Given the description of an element on the screen output the (x, y) to click on. 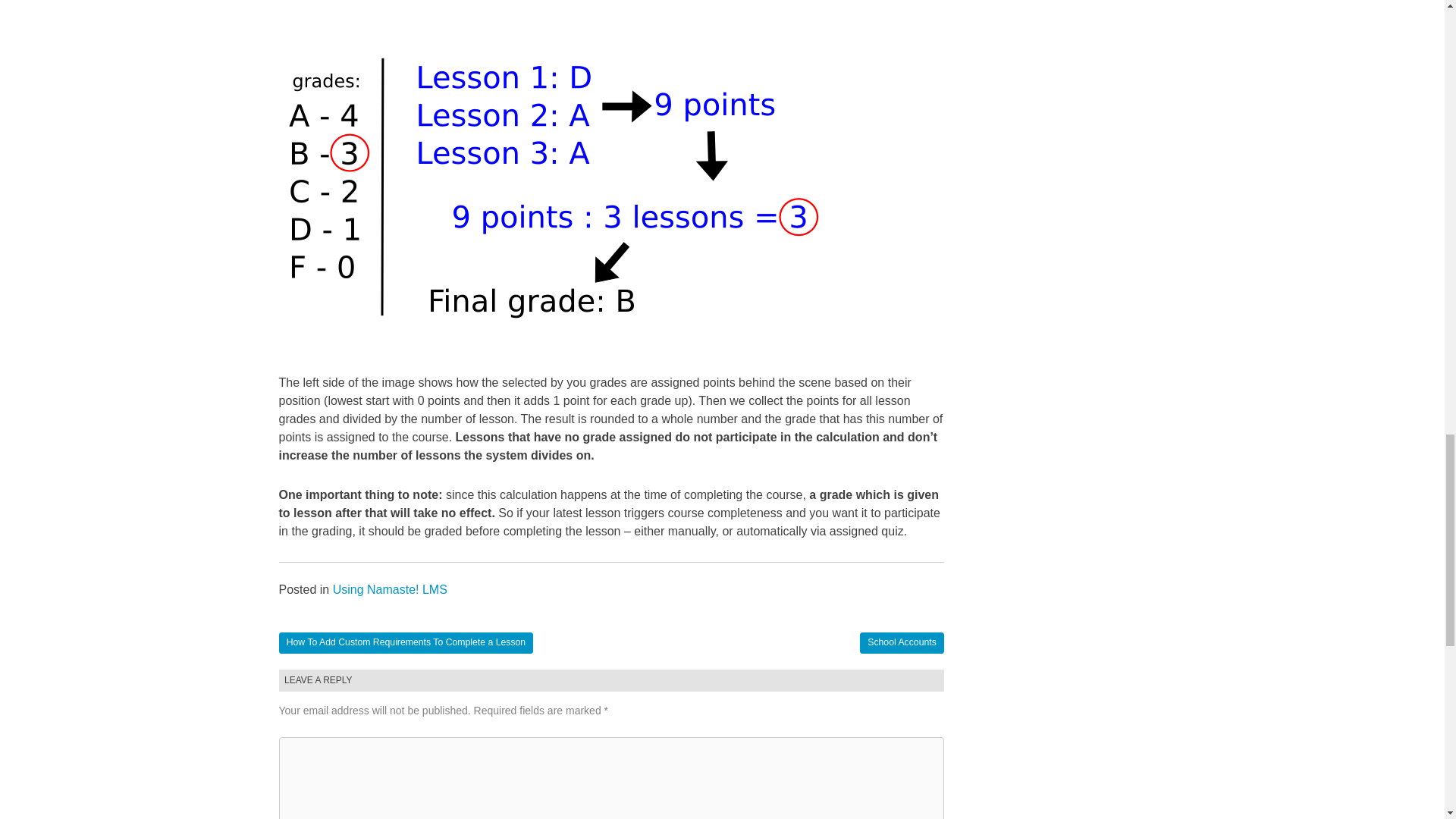
How To Add Custom Requirements To Complete a Lesson (406, 643)
School Accounts (901, 643)
Using Namaste! LMS (389, 589)
